Given the description of an element on the screen output the (x, y) to click on. 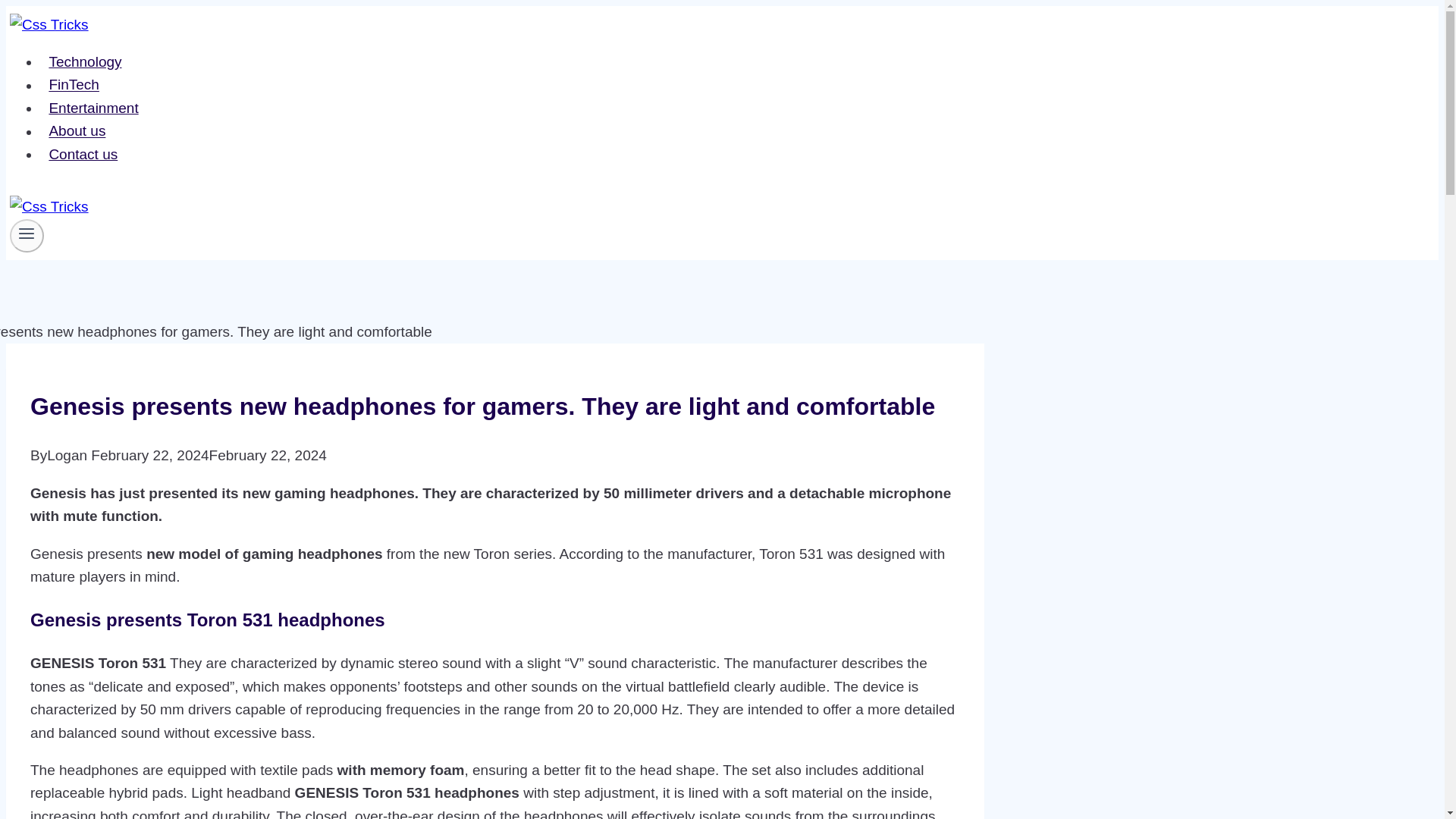
Entertainment (93, 108)
Toggle Menu (26, 235)
About us (77, 131)
FinTech (73, 84)
Contact us (83, 154)
Toggle Menu (25, 233)
Technology (85, 61)
